Given the description of an element on the screen output the (x, y) to click on. 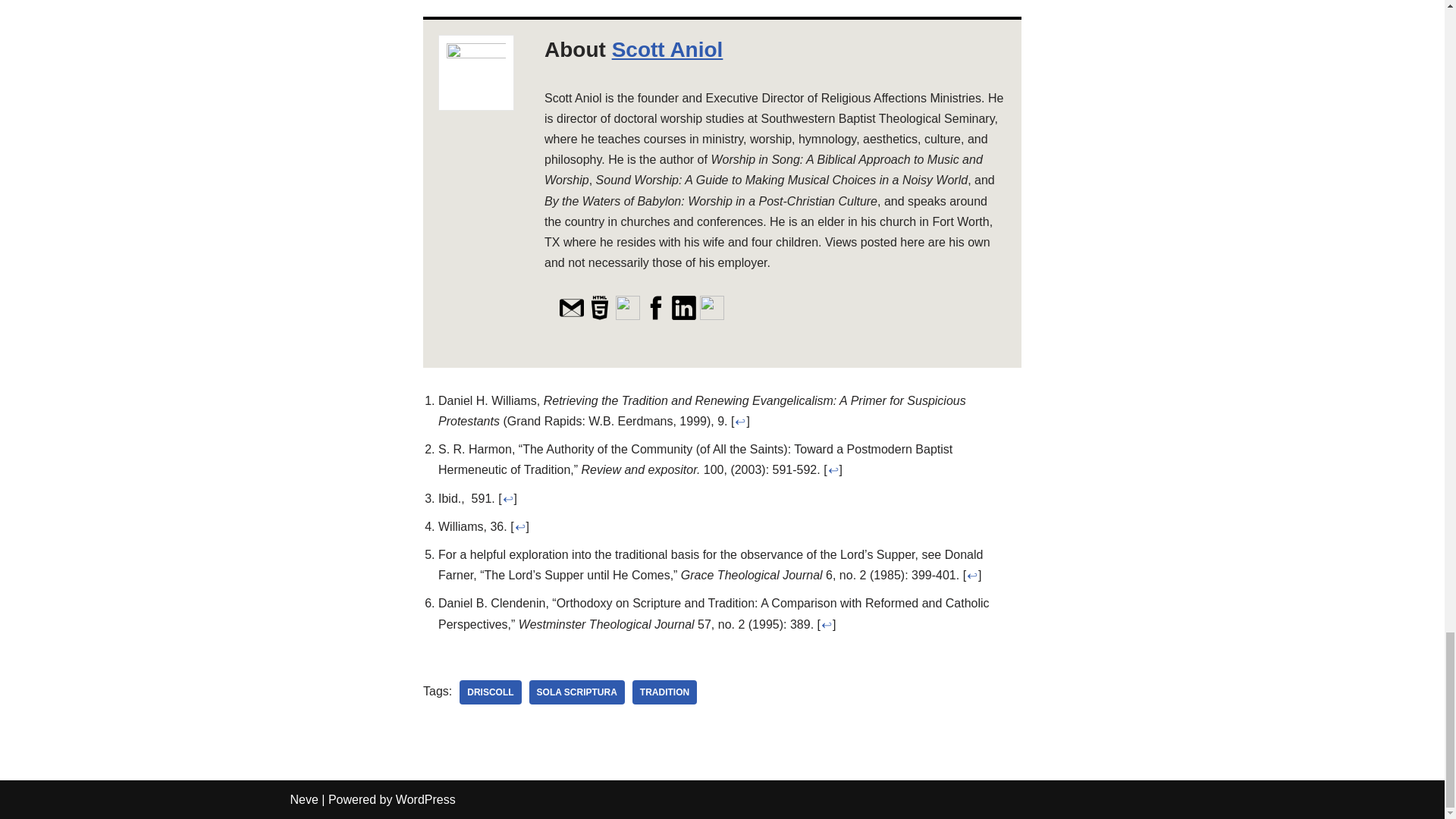
Scott Aniol On LinkedIn (683, 316)
Scott Aniol On Facebook (655, 316)
Scott Aniol On The Web (599, 316)
Scott Aniol (667, 49)
Scott Aniol On Twitter (627, 316)
Send Scott Aniol Mail (571, 316)
